Given the description of an element on the screen output the (x, y) to click on. 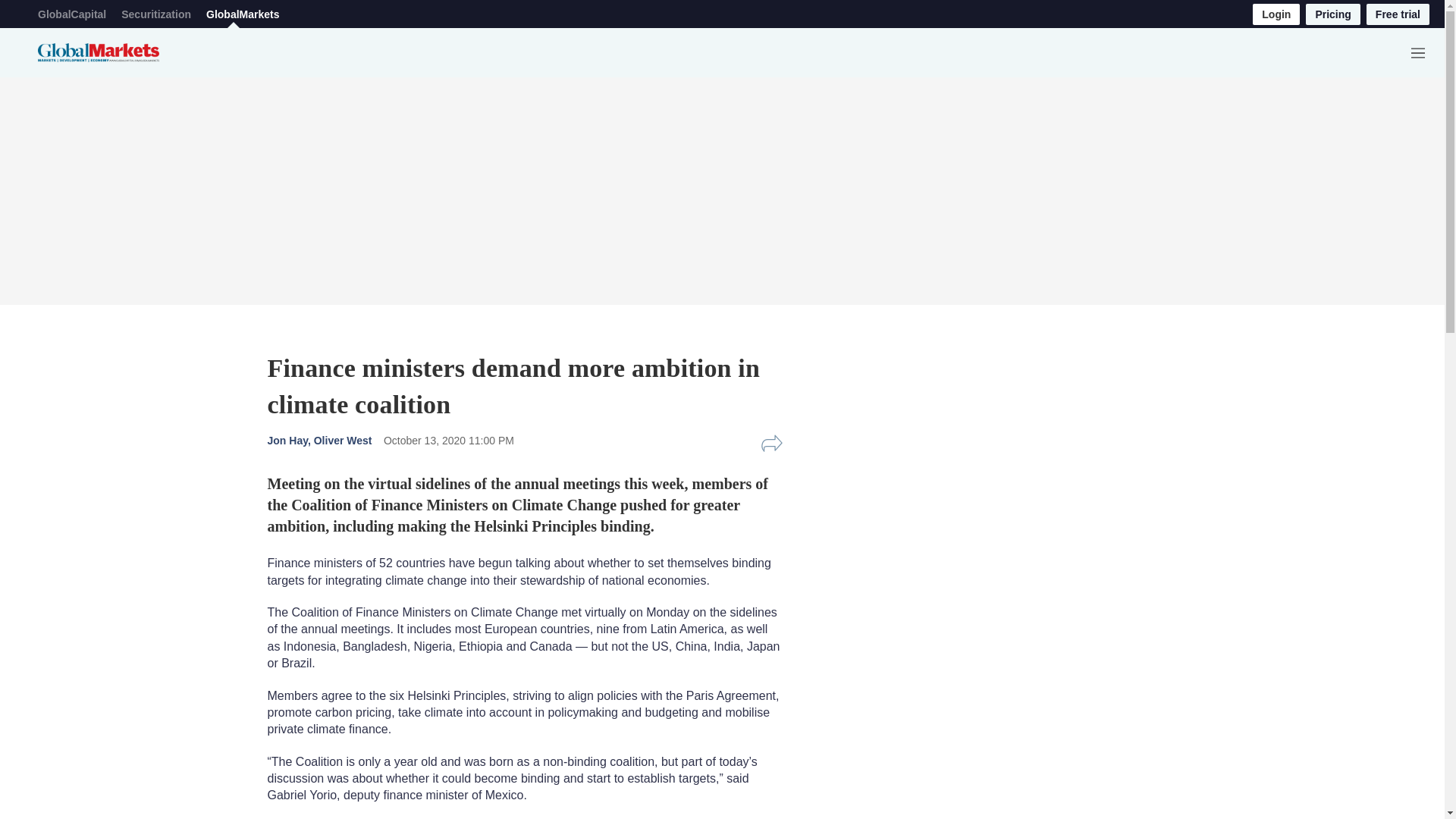
GlobalCapital (71, 13)
Share (771, 443)
Securitization (155, 13)
Login (1276, 13)
Show more sharing options (771, 443)
Pricing (1332, 13)
Free trial (1398, 13)
GlobalMarkets (242, 13)
